Given the description of an element on the screen output the (x, y) to click on. 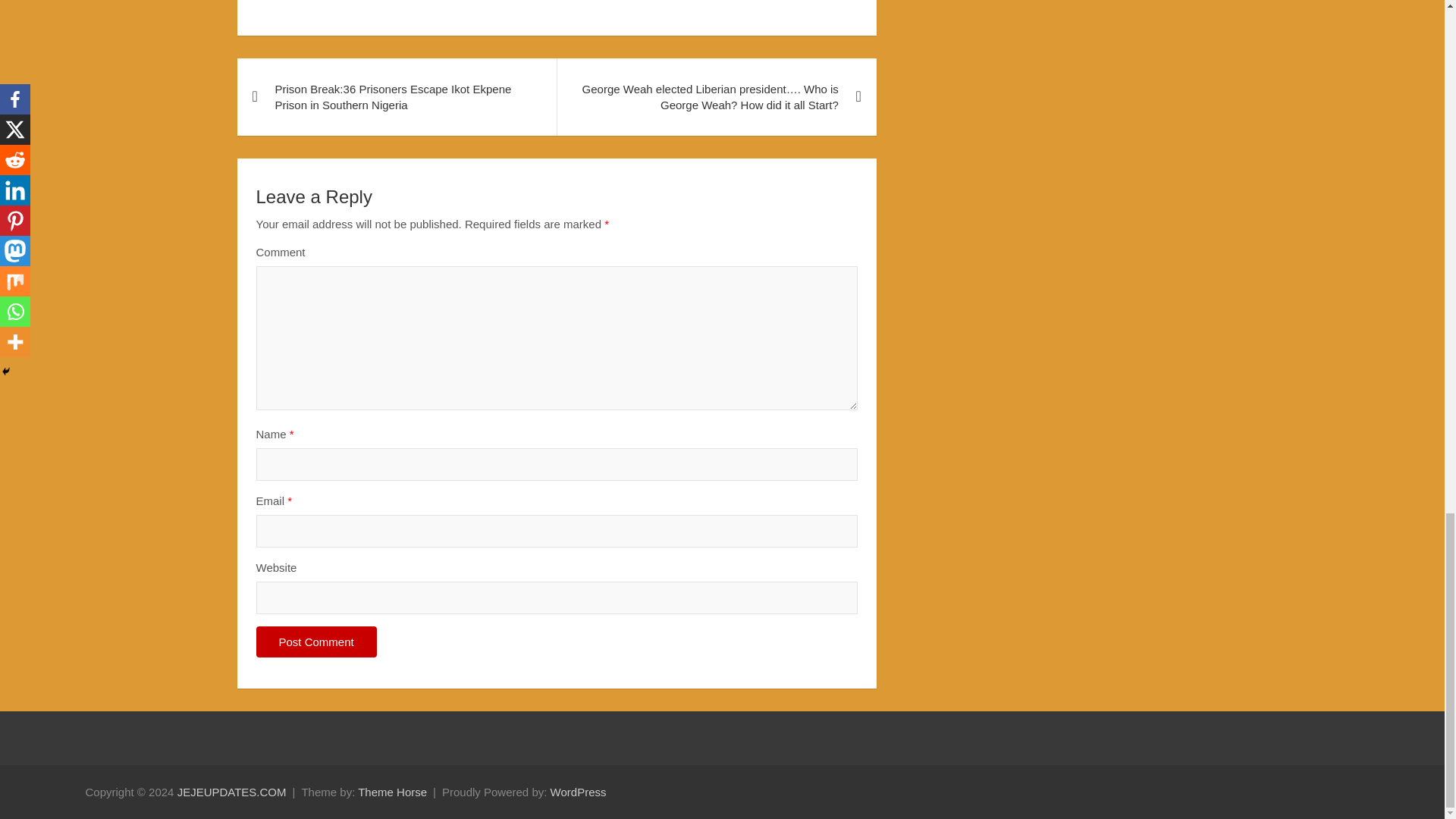
Post Comment (316, 641)
